Given the description of an element on the screen output the (x, y) to click on. 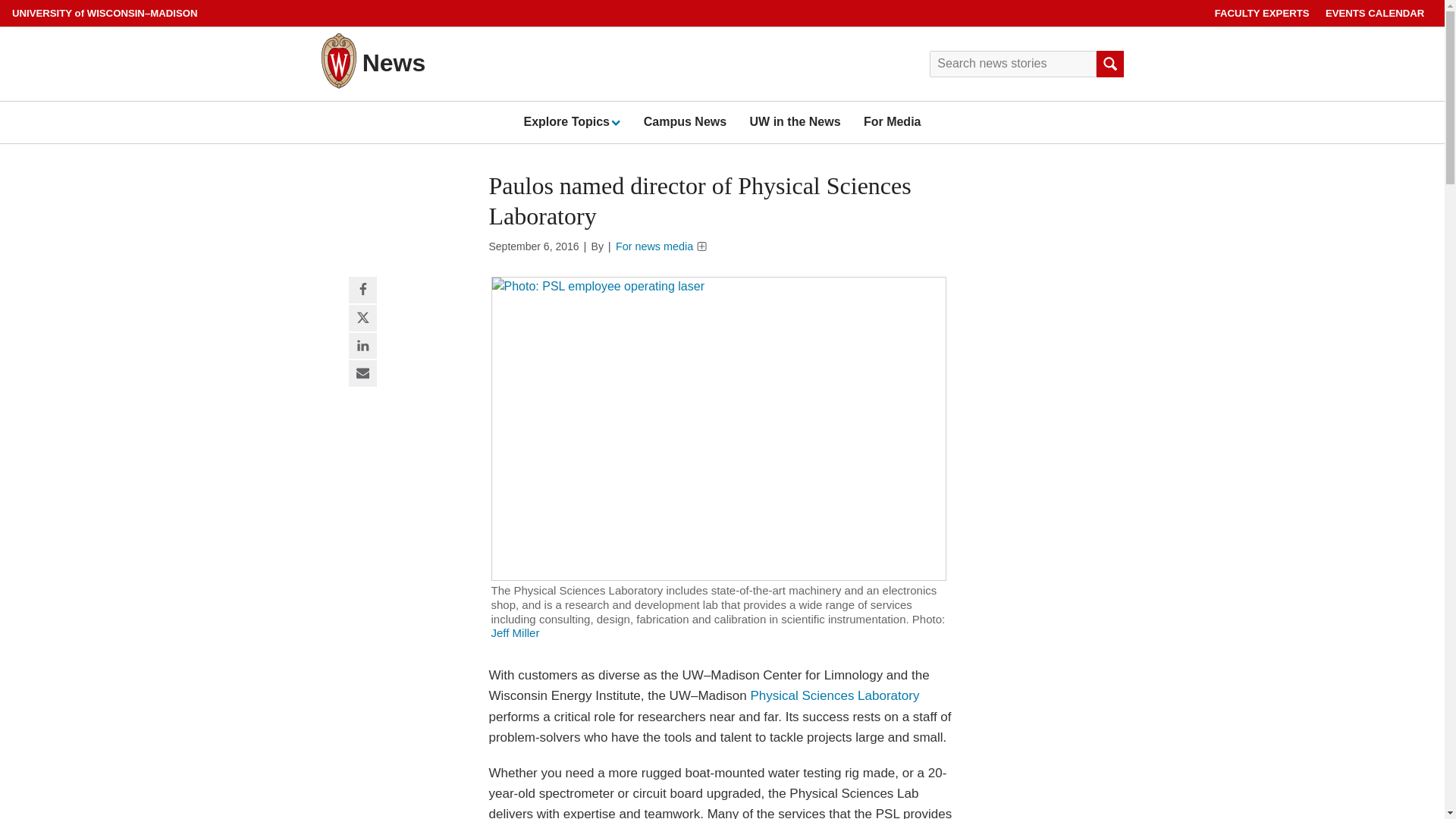
Skip to main content (3, 3)
Physical Sciences Laboratory (833, 695)
FACULTY EXPERTS (1262, 13)
Submit search (1109, 63)
For Media (892, 121)
Jeff Miller (516, 632)
Share via Facebook (362, 290)
Share via Linked In (362, 345)
UW in the News (795, 121)
Explore TopicsExpand (571, 121)
EVENTS CALENDAR (1374, 13)
Expand (615, 122)
Share via X, formerly Twitter (362, 318)
For news media More information (661, 246)
News (394, 62)
